Given the description of an element on the screen output the (x, y) to click on. 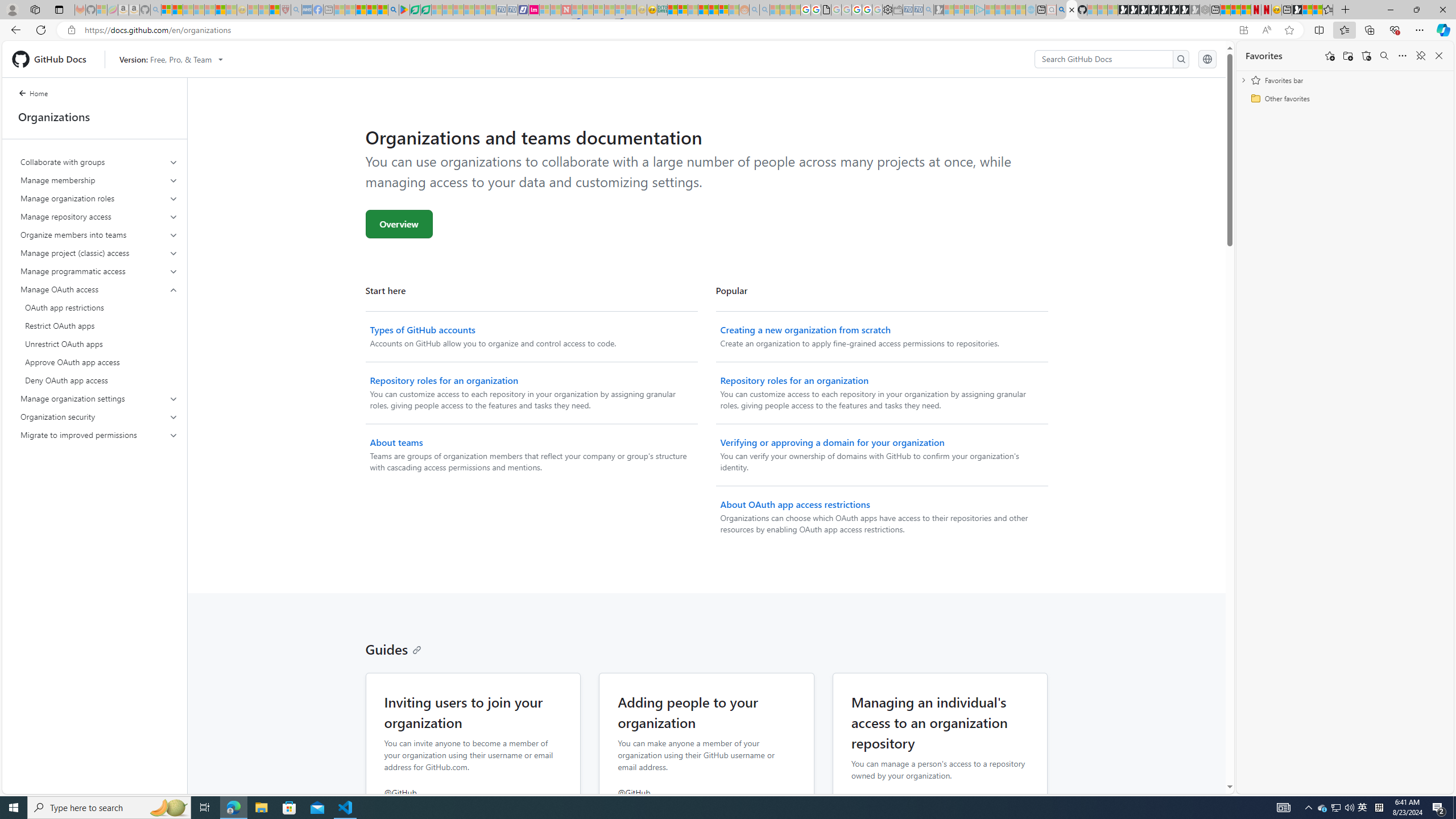
Wallet - Sleeping (897, 9)
Bing Real Estate - Home sales and rental listings - Sleeping (928, 9)
Search favorites (1383, 55)
App available. Install GitHub Docs (1243, 29)
Kinda Frugal - MSN (713, 9)
OAuth app restrictions (99, 307)
Deny OAuth app access (99, 380)
Home | Sky Blue Bikes - Sky Blue Bikes - Sleeping (1030, 9)
